Given the description of an element on the screen output the (x, y) to click on. 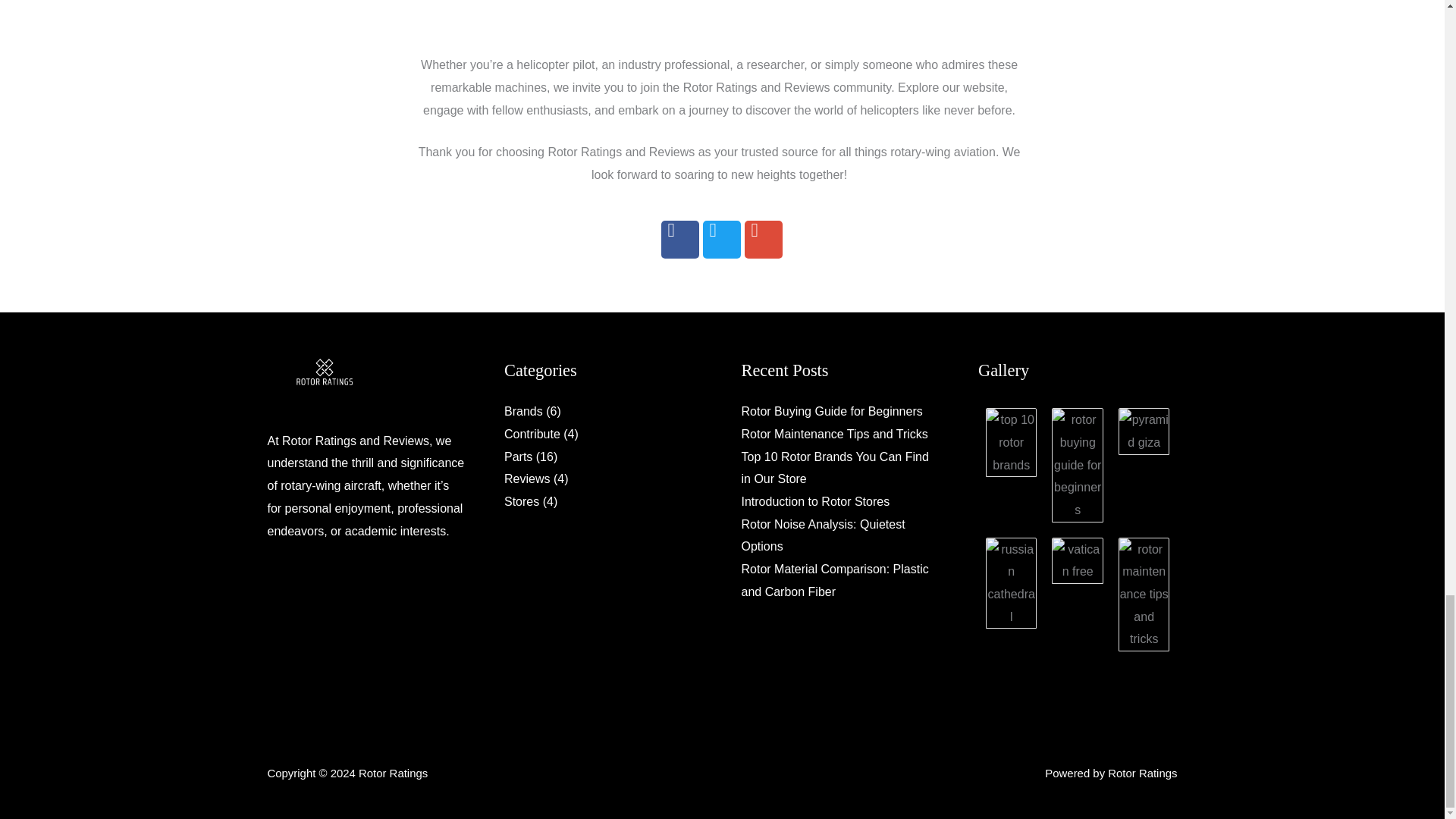
Reviews (526, 478)
Brands (523, 410)
Parts (517, 456)
Top 10 Rotor Brands You Can Find in Our Store (834, 468)
Facebook (679, 239)
Stores (520, 501)
Introduction to Rotor Stores (815, 501)
Contribute (531, 433)
Rotor Maintenance Tips and Tricks (834, 433)
Rotor Material Comparison: Plastic and Carbon Fiber (834, 580)
